Given the description of an element on the screen output the (x, y) to click on. 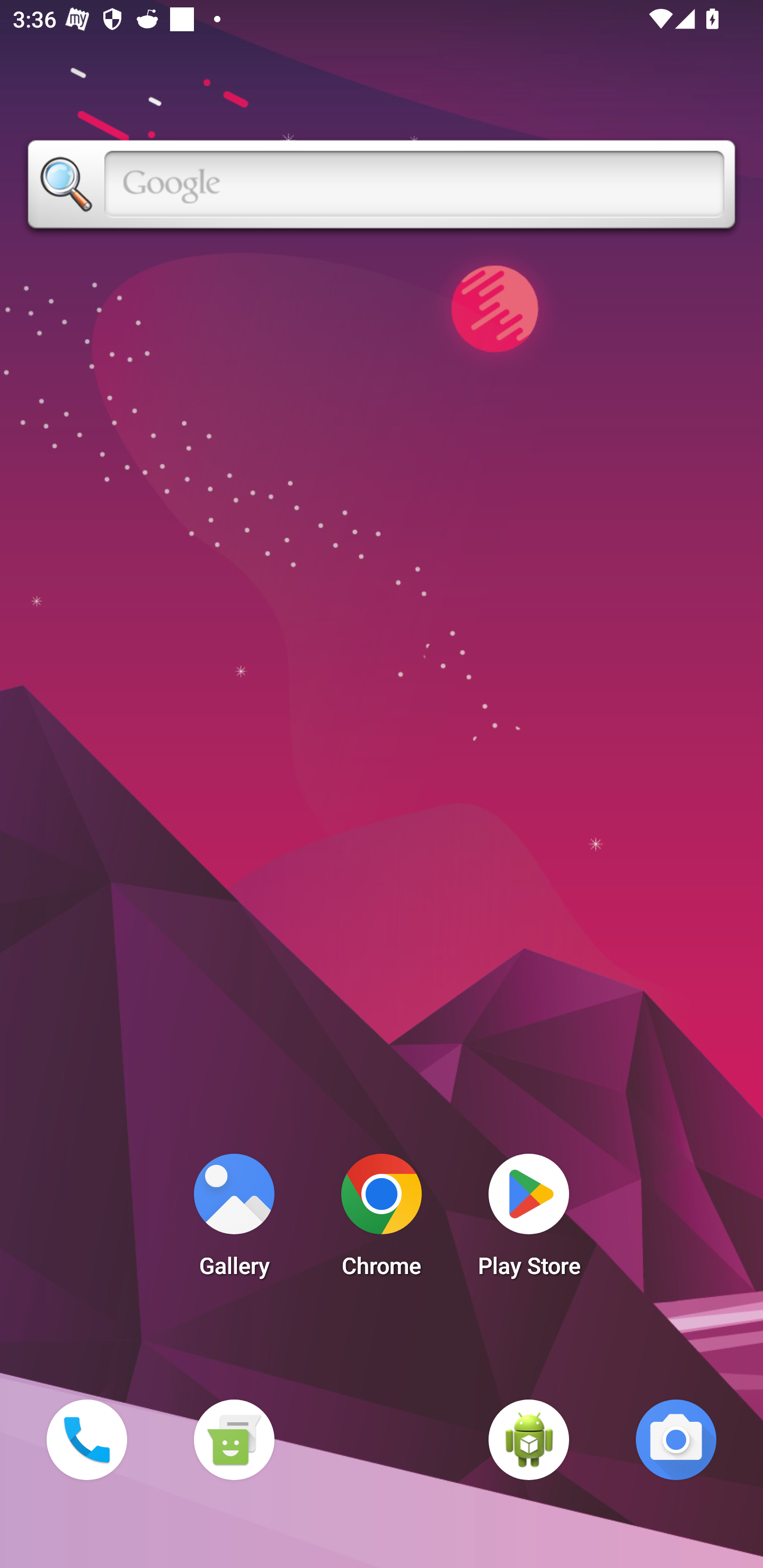
Gallery (233, 1220)
Chrome (381, 1220)
Play Store (528, 1220)
Phone (86, 1439)
Messaging (233, 1439)
WebView Browser Tester (528, 1439)
Camera (676, 1439)
